Given the description of an element on the screen output the (x, y) to click on. 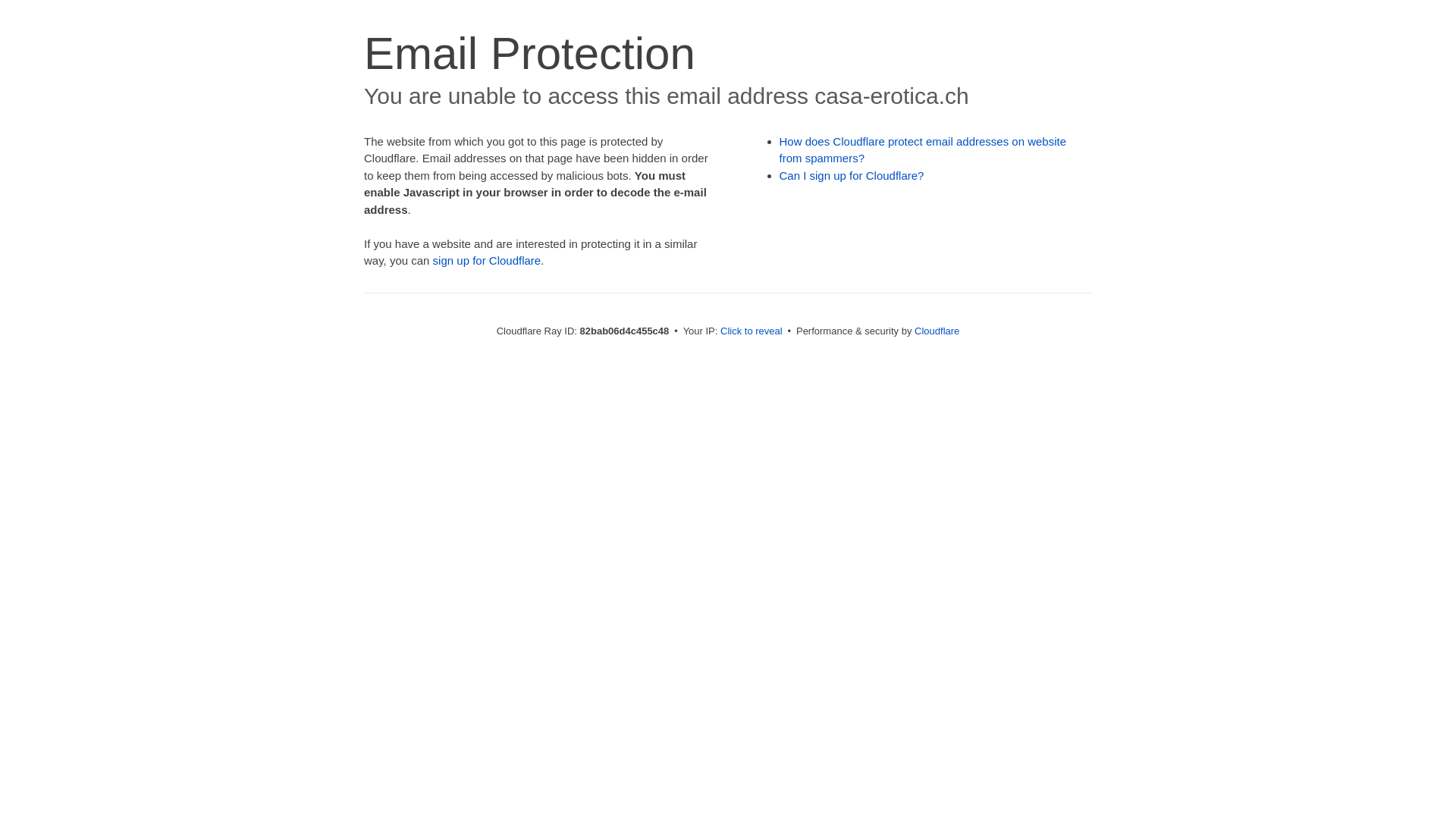
sign up for Cloudflare Element type: text (487, 260)
Can I sign up for Cloudflare? Element type: text (851, 175)
Click to reveal Element type: text (751, 330)
Cloudflare Element type: text (936, 330)
